Given the description of an element on the screen output the (x, y) to click on. 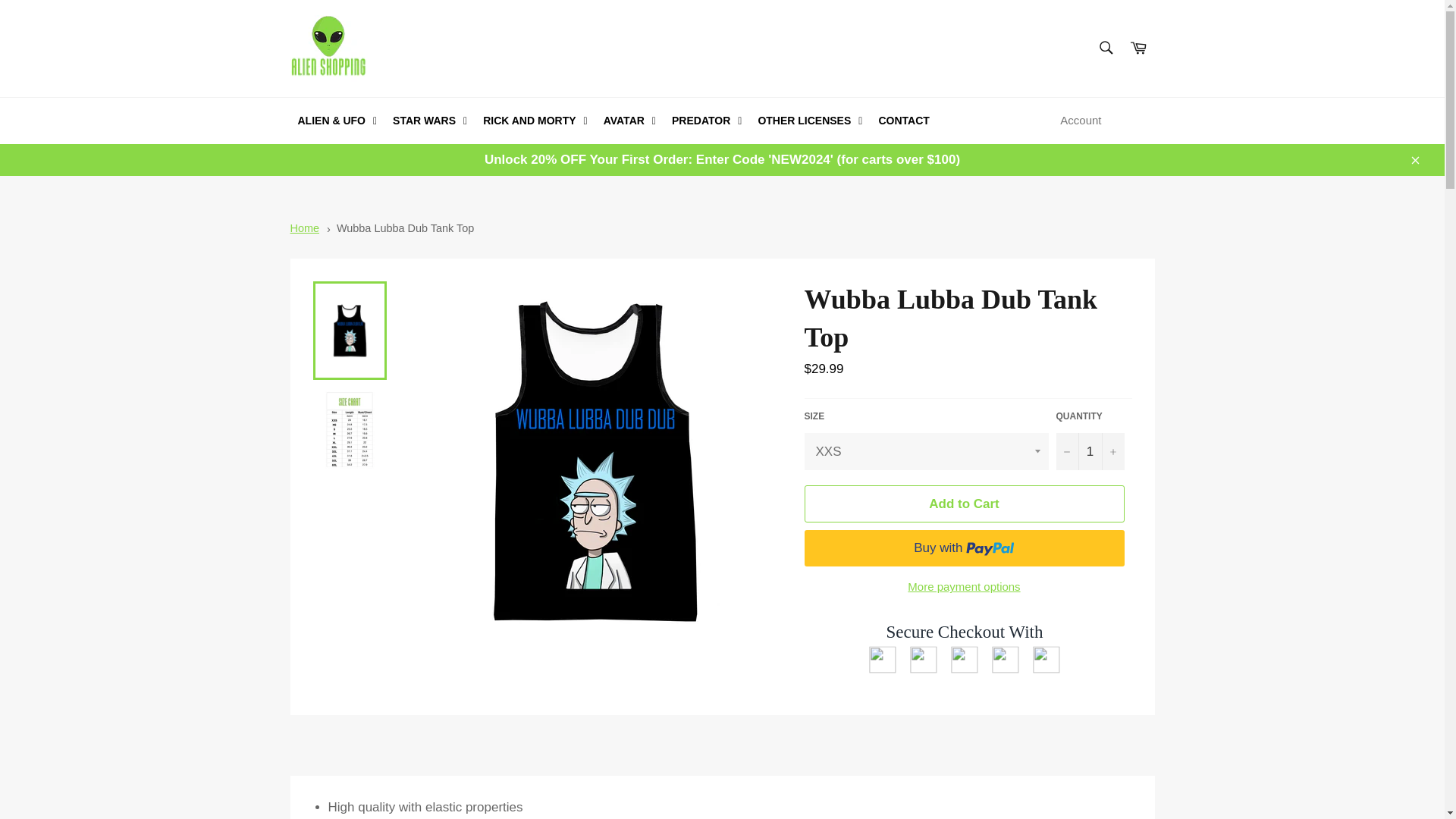
1 (1089, 451)
